Given the description of an element on the screen output the (x, y) to click on. 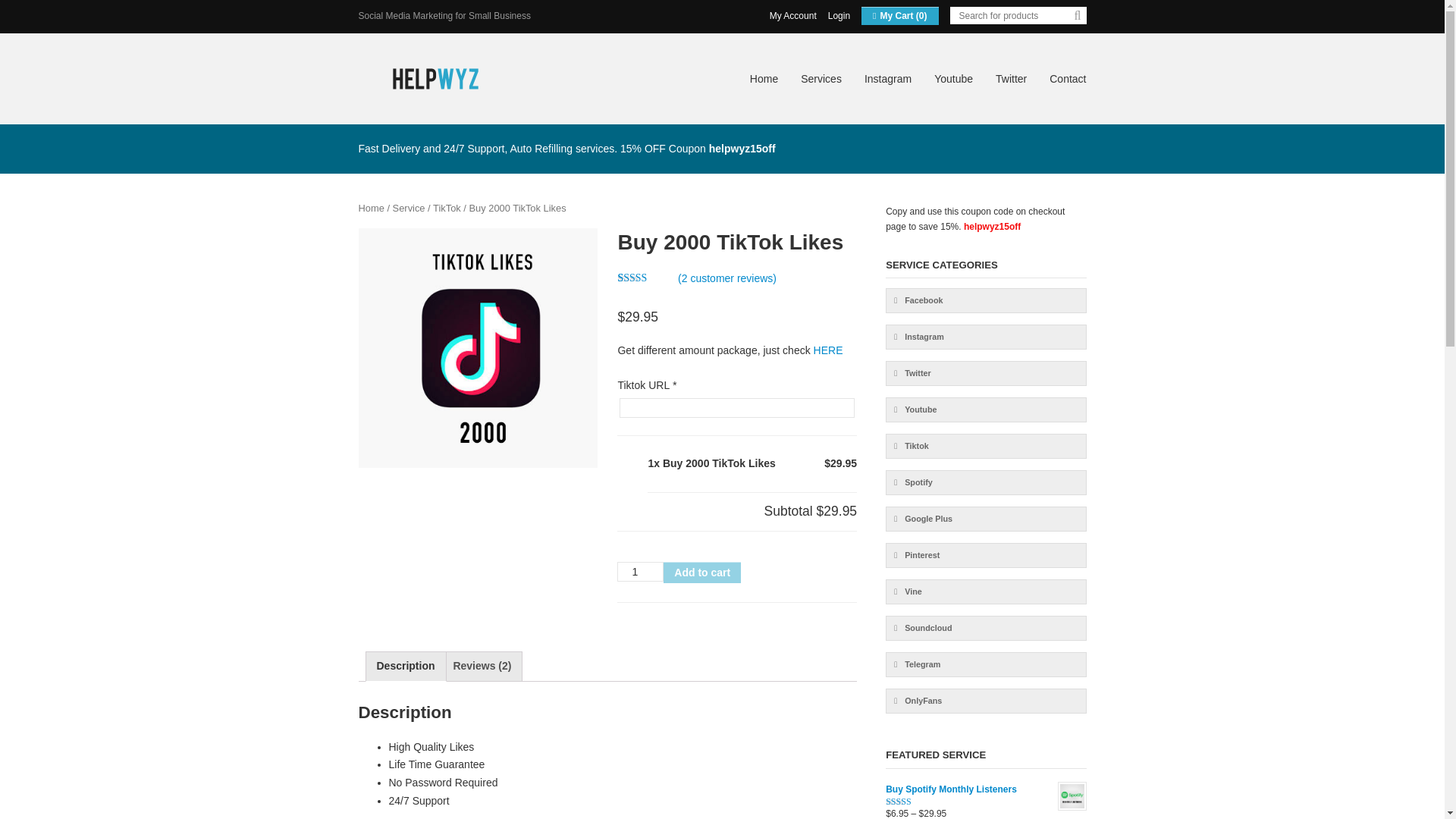
Search (1076, 16)
Login (839, 15)
Required field (674, 385)
Home (763, 78)
Search (1076, 16)
Qty (640, 571)
Search (1076, 16)
My Account (793, 15)
Instagram (887, 78)
1 (640, 571)
Services (820, 78)
